Given the description of an element on the screen output the (x, y) to click on. 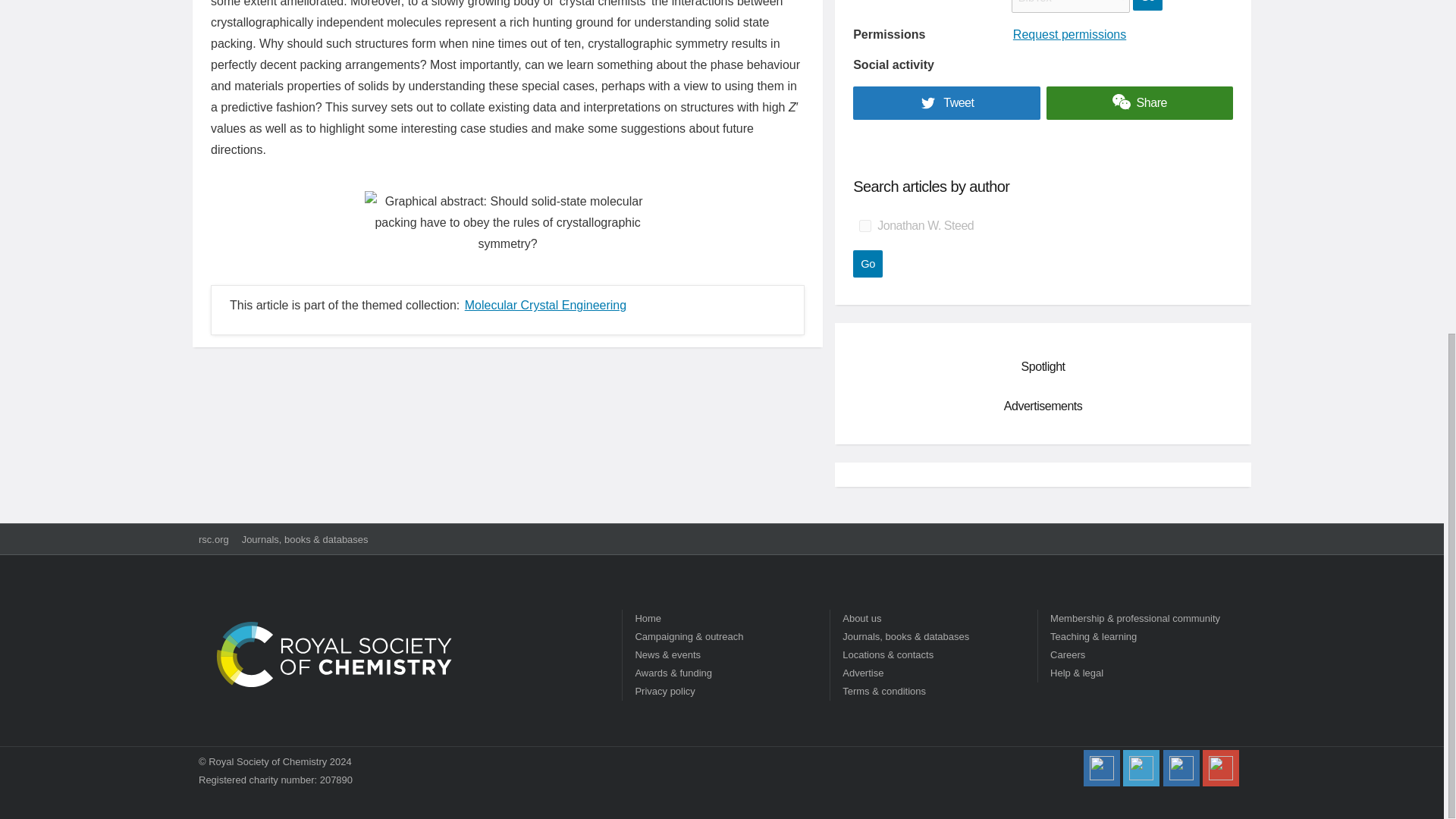
Go (867, 263)
Go (867, 263)
Request permissions (1068, 34)
on (864, 225)
Share (1139, 102)
Molecular Crystal Engineering (545, 304)
Tweet (946, 102)
Go (867, 263)
Go (1146, 5)
Go (1146, 5)
rsc.org (213, 539)
